Given the description of an element on the screen output the (x, y) to click on. 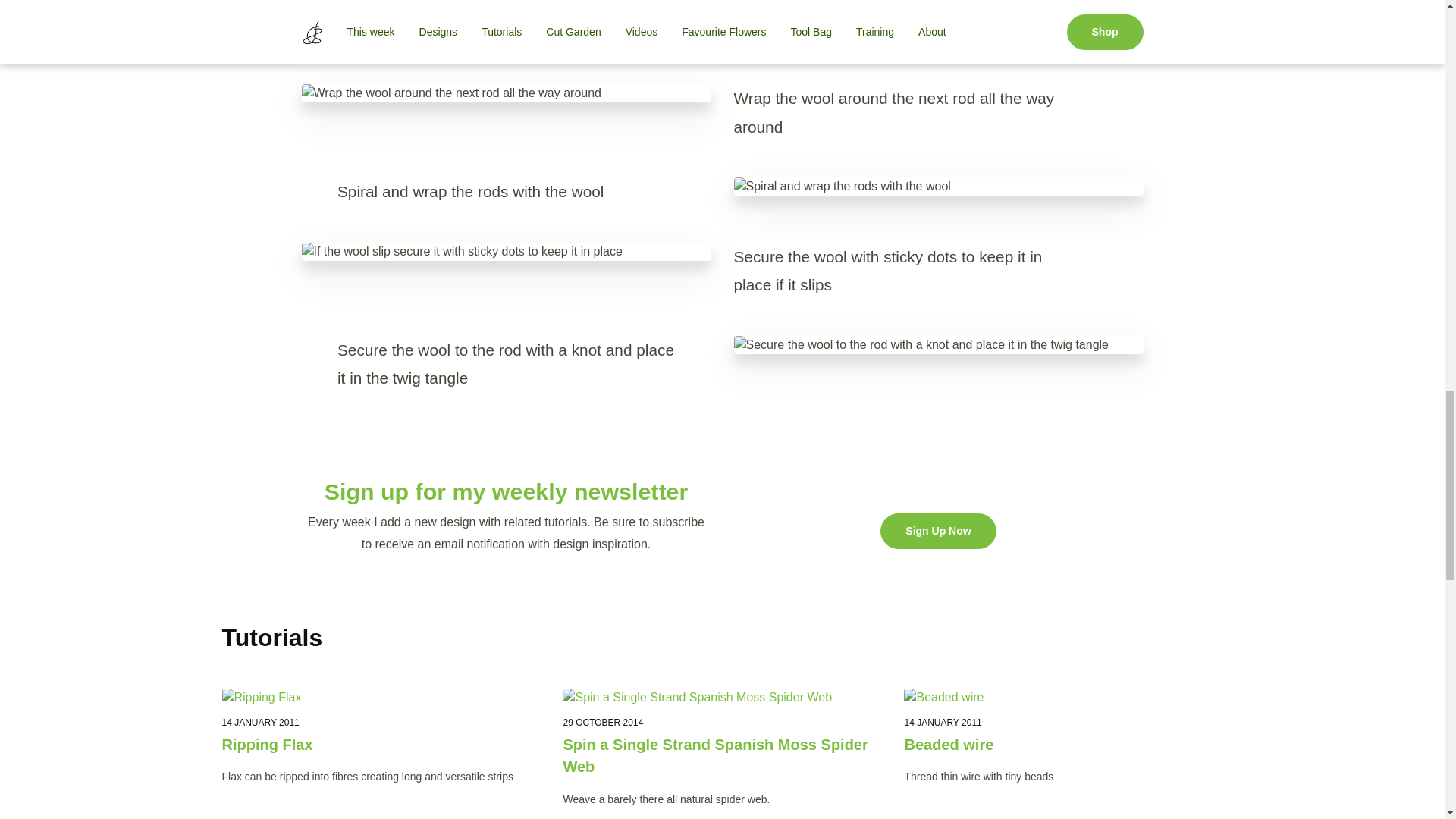
Ripping Flax (380, 744)
Wrap the wool around the next rod all the way around (506, 93)
Sign up for my weekly newsletter (506, 491)
Beaded wire (1063, 697)
Spin a Single Strand Spanish Moss Spider Web (721, 697)
Ripping Flax (380, 697)
Spin a Single Strand Spanish Moss Spider Web (721, 755)
Spiral and wrap the rods with the wool (937, 186)
